Given the description of an element on the screen output the (x, y) to click on. 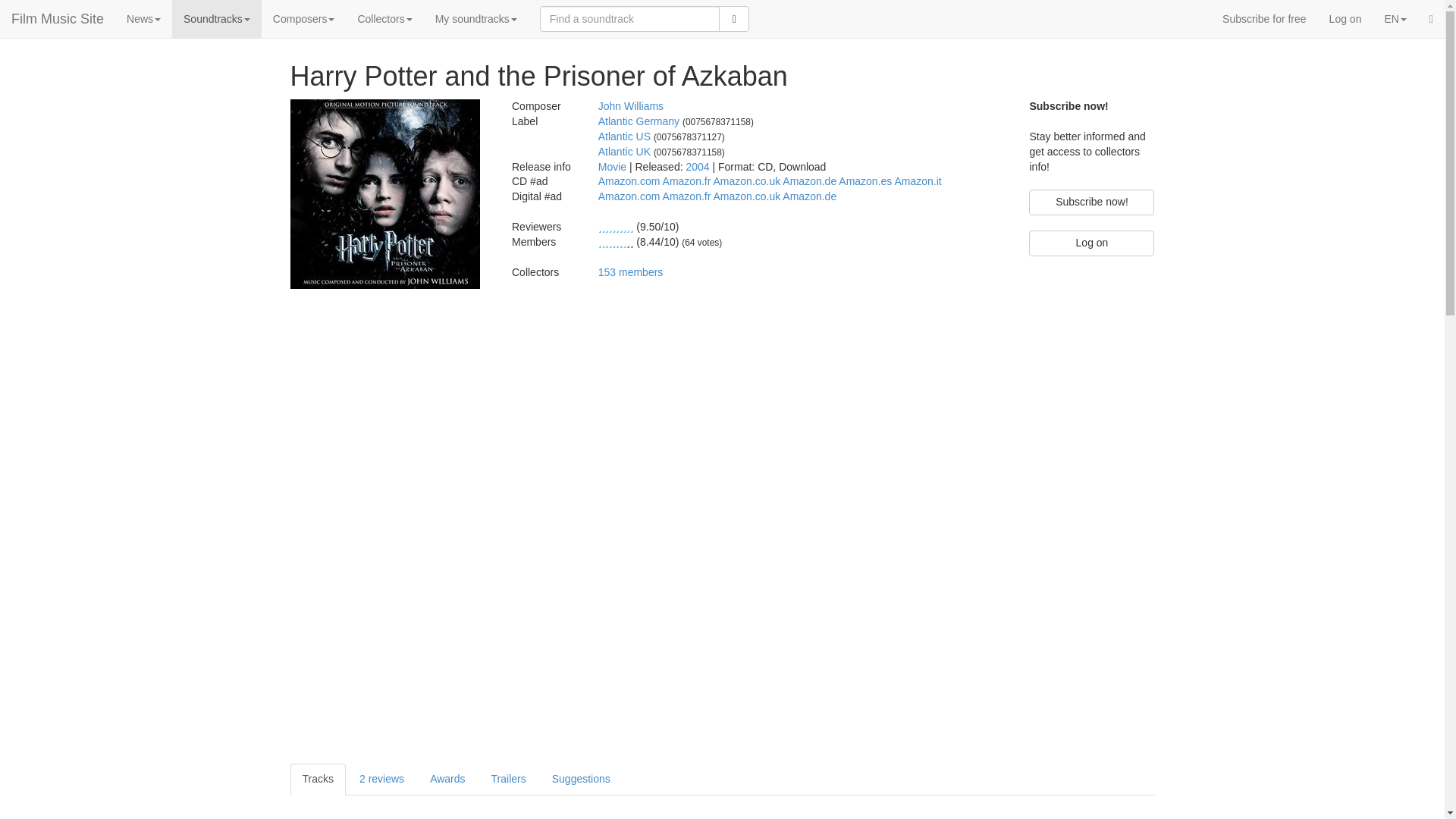
News (143, 18)
Soundtracks (216, 18)
Film Music Site (57, 18)
